Given the description of an element on the screen output the (x, y) to click on. 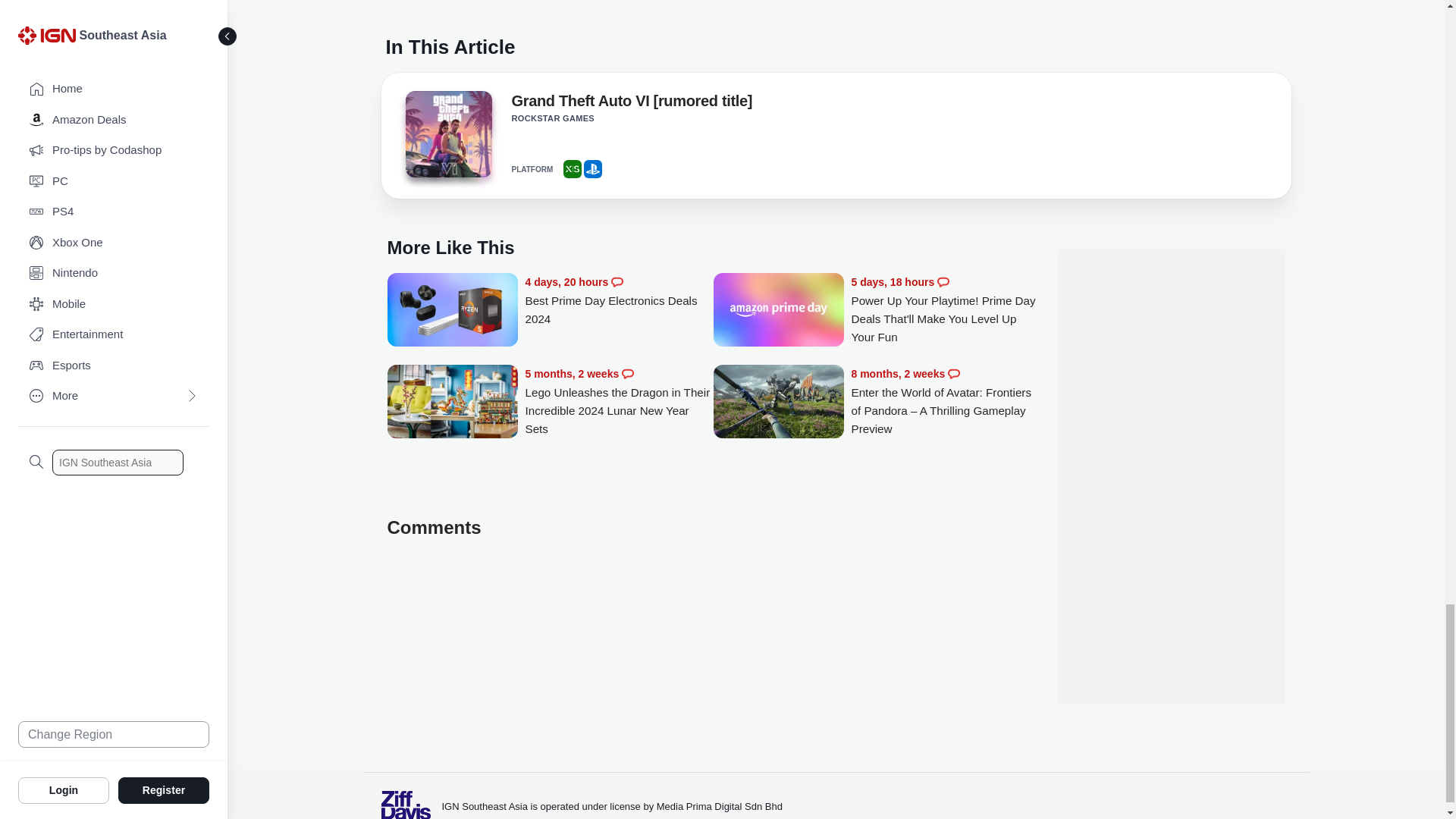
Best Prime Day Electronics Deals 2024 (618, 300)
PS5 (592, 168)
XBOXSERIES (571, 168)
Best Prime Day Electronics Deals 2024 (451, 310)
Comments (617, 282)
